Given the description of an element on the screen output the (x, y) to click on. 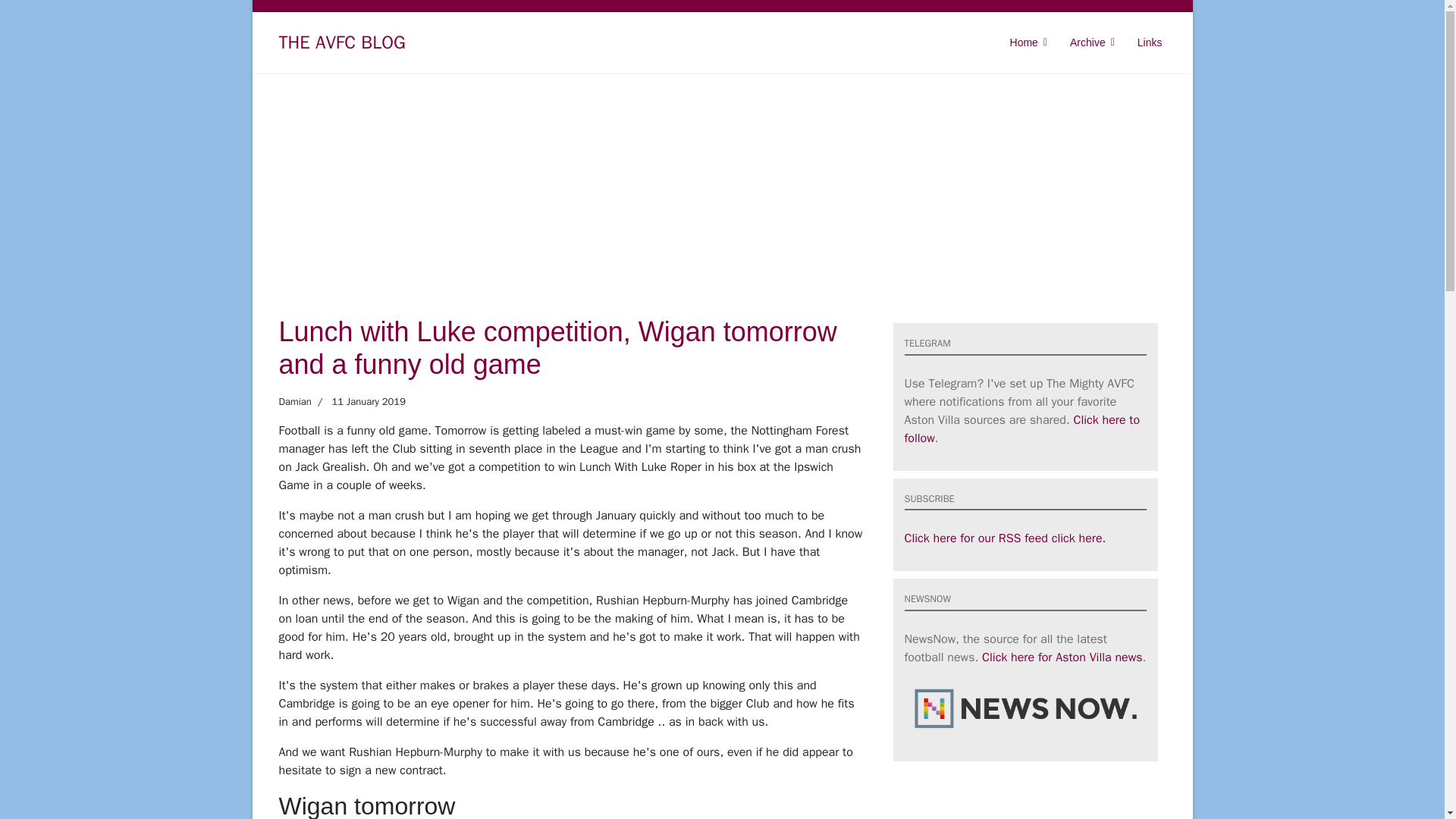
Click here to follow (1022, 428)
Home (1028, 42)
Click here for Aston Villa news (1061, 657)
Click here for our RSS feed click here. (1004, 538)
THE AVFC BLOG (342, 42)
Published: 11 January 2019 (358, 401)
Written by: Damian (295, 401)
Archive (1091, 42)
